Given the description of an element on the screen output the (x, y) to click on. 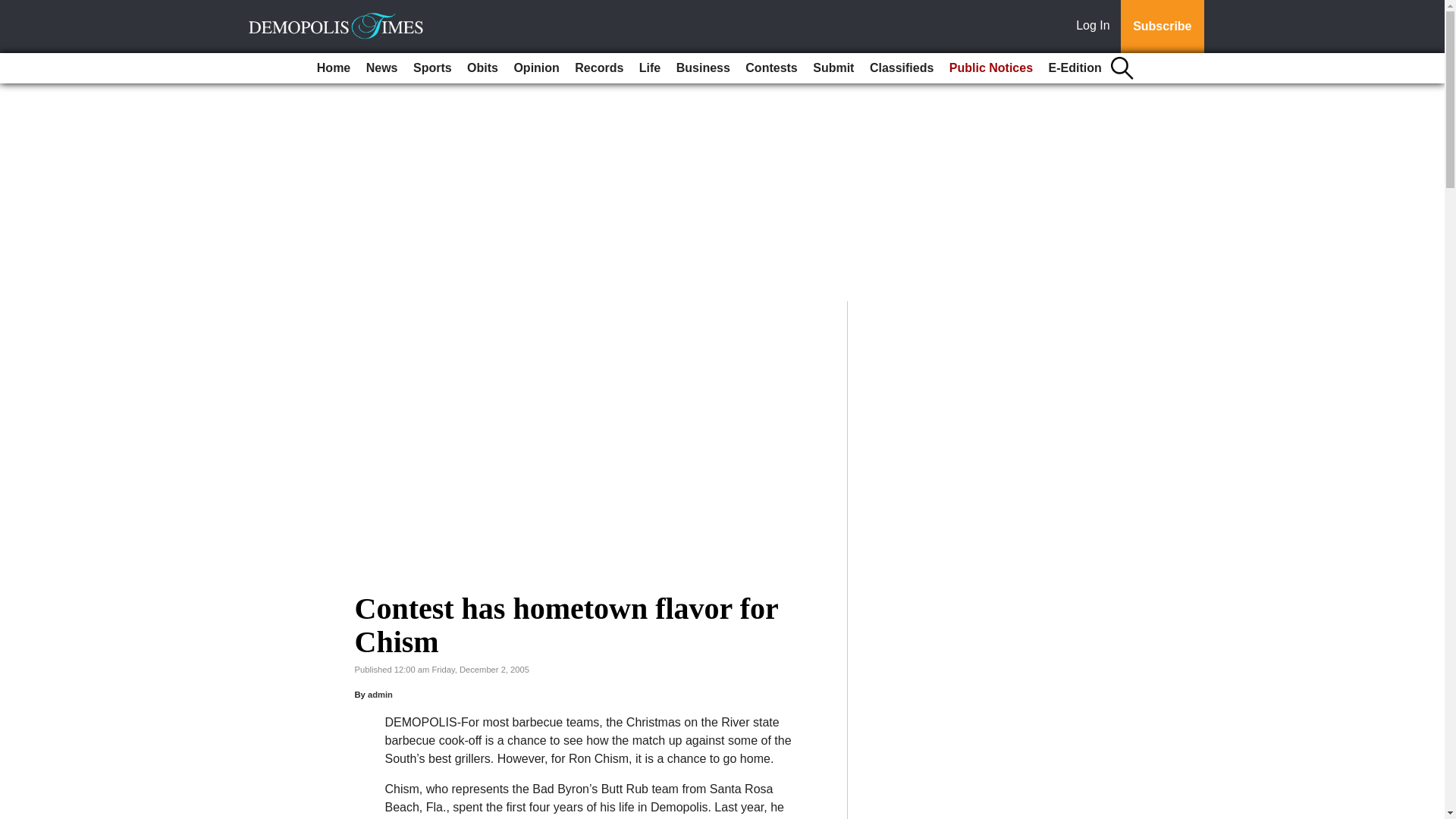
admin (380, 694)
Submit (833, 68)
Business (702, 68)
Home (333, 68)
Contests (771, 68)
Go (13, 9)
Public Notices (991, 68)
Log In (1095, 26)
Obits (482, 68)
E-Edition (1075, 68)
Subscribe (1162, 26)
Opinion (535, 68)
Sports (432, 68)
Classifieds (901, 68)
News (381, 68)
